Given the description of an element on the screen output the (x, y) to click on. 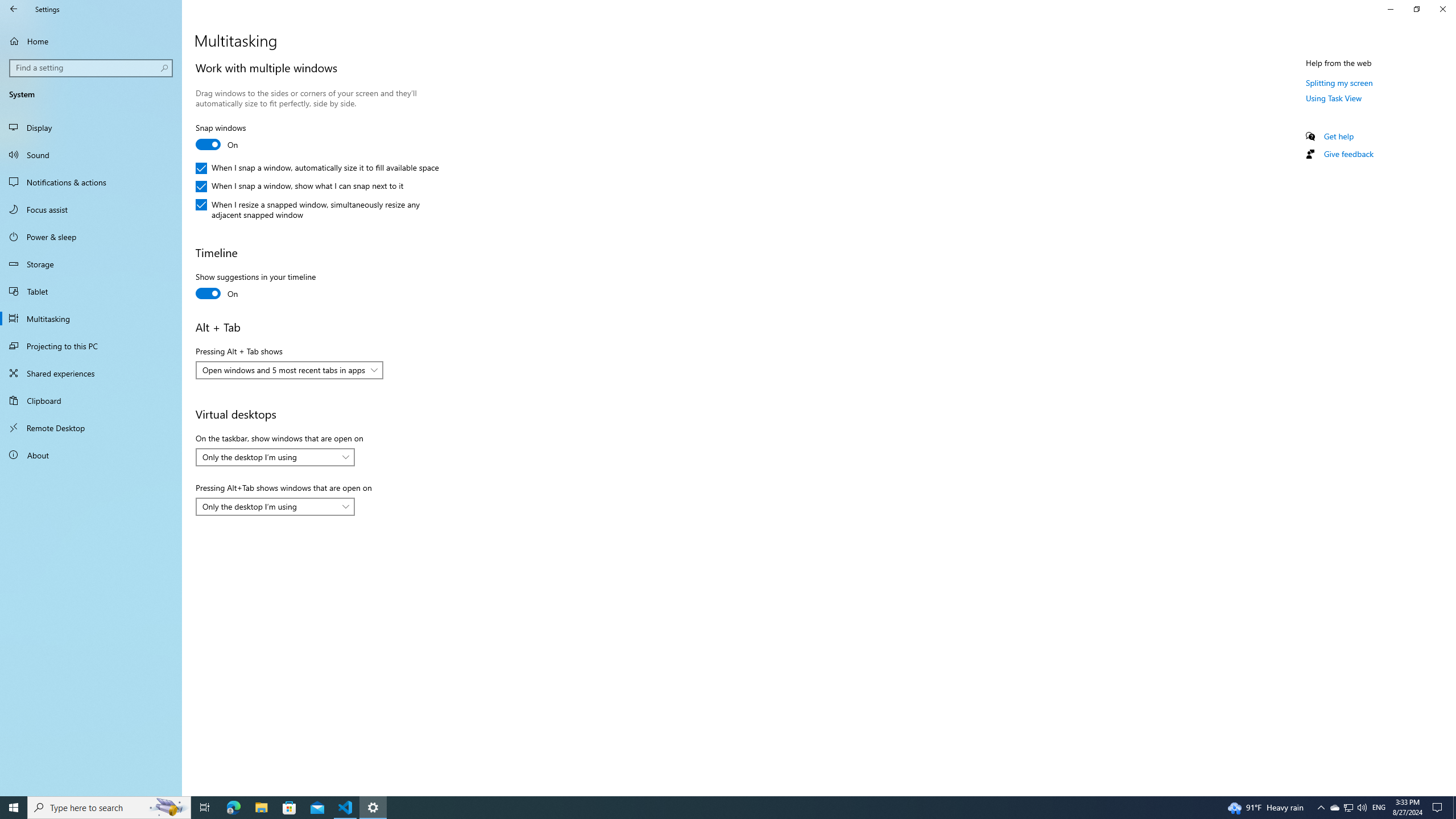
Using Task View (1334, 97)
Focus assist (91, 208)
Q2790: 100% (1361, 807)
On the taskbar, show windows that are open on (275, 456)
Shared experiences (91, 372)
Display (91, 126)
Type here to search (108, 807)
Open windows and 5 most recent tabs in apps (283, 369)
